Given the description of an element on the screen output the (x, y) to click on. 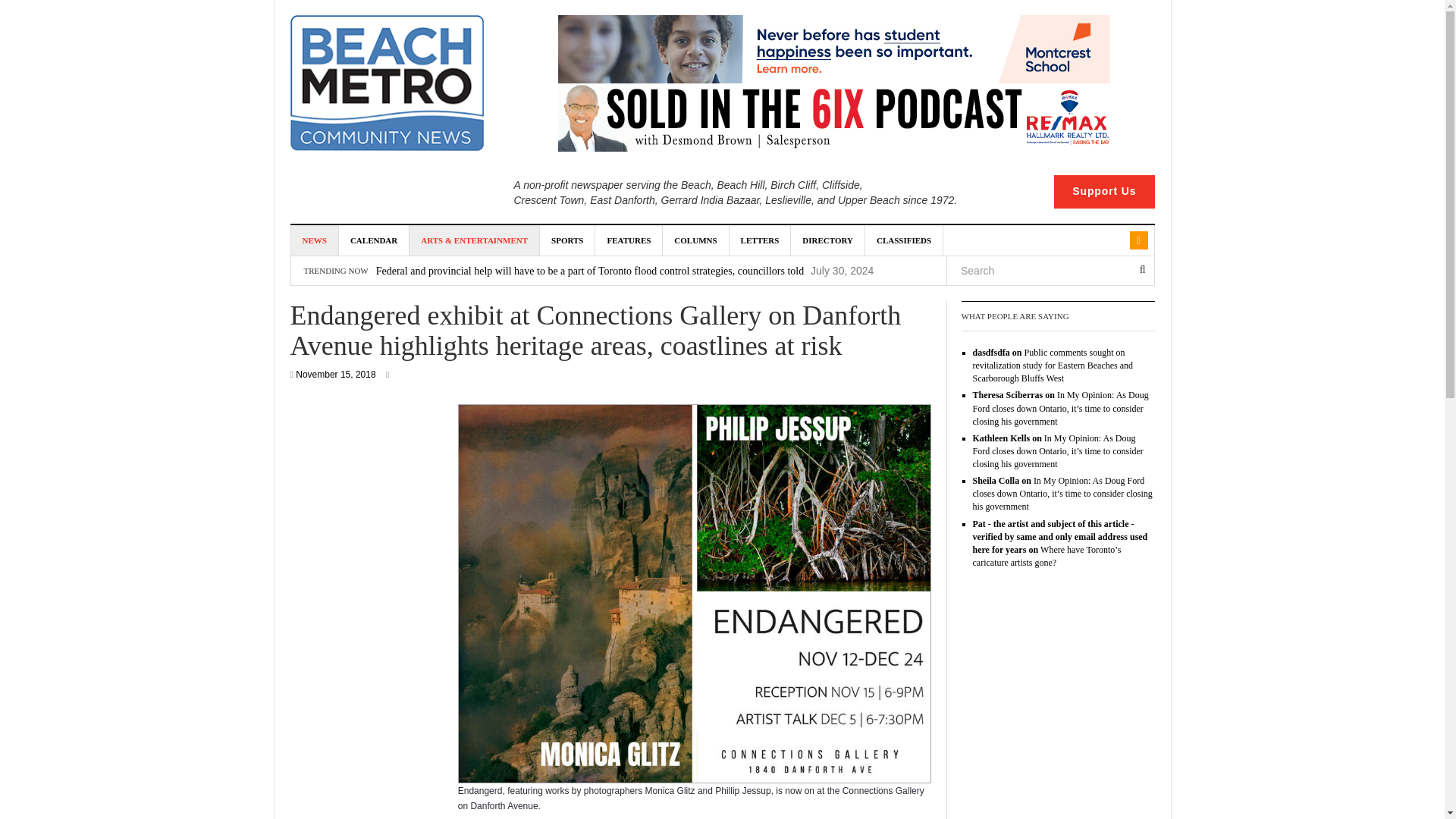
COLUMNS (695, 240)
Support Us (1104, 191)
Moncrest School (833, 49)
NEWS (315, 240)
CALENDAR (374, 240)
SPORTS (567, 240)
Support Us (1104, 191)
SOLD IN THE 6IX PODCAST (833, 117)
FEATURES (628, 240)
Beach Metro Community News (386, 82)
